Given the description of an element on the screen output the (x, y) to click on. 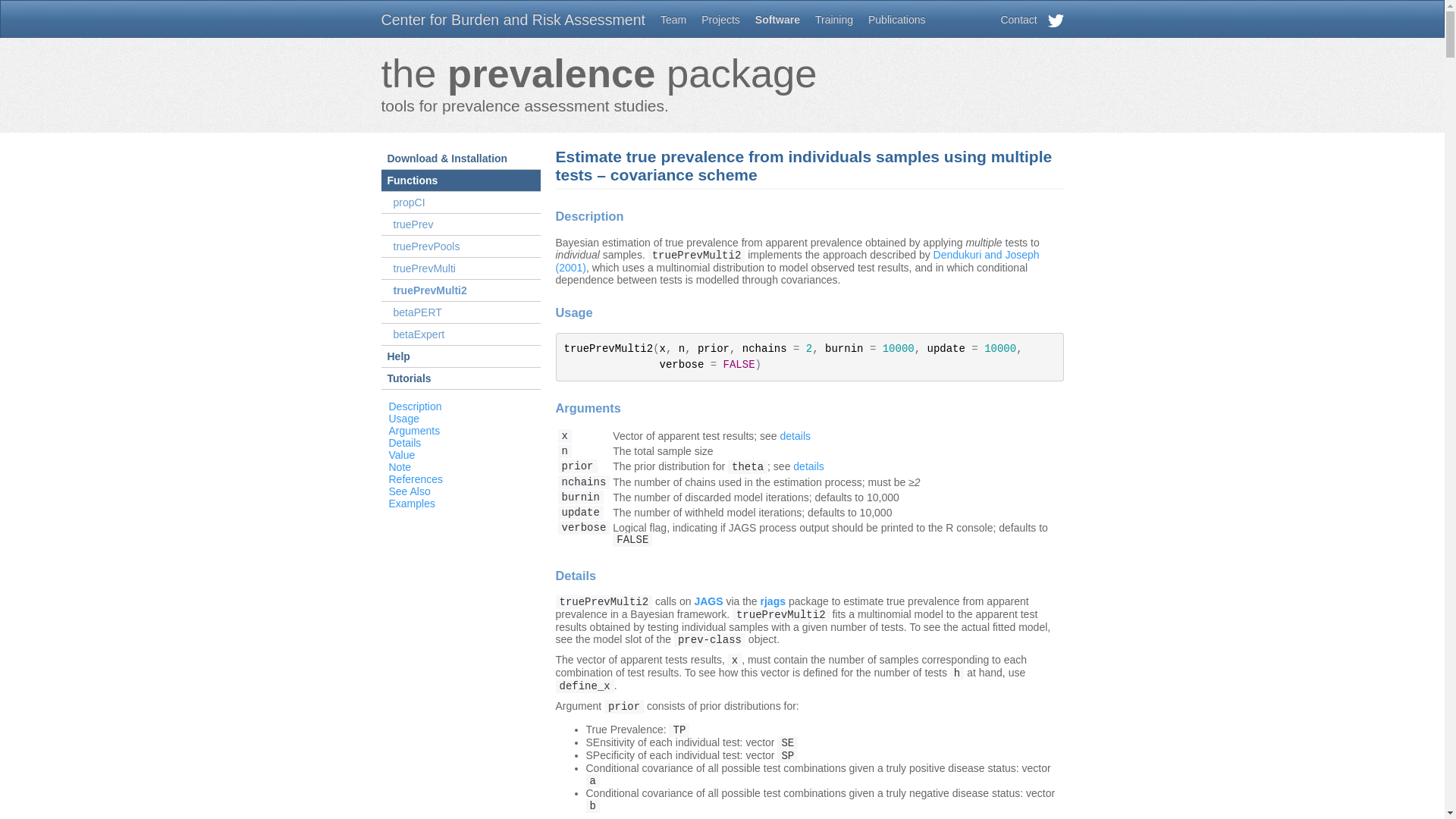
prev-class Element type: text (709, 639)
Follow @CBRA_be on Twitter Element type: hover (1055, 23)
truePrevMulti2 Element type: text (459, 290)
Projects Element type: text (720, 19)
truePrevPools Element type: text (459, 246)
betaPERT Element type: text (459, 312)
Team Element type: text (673, 19)
Software Element type: text (777, 19)
Details Element type: text (404, 442)
details Element type: text (808, 466)
define_x Element type: text (584, 685)
References Element type: text (415, 479)
Note Element type: text (399, 467)
betaExpert Element type: text (459, 334)
Center for Burden and Risk Assessment Element type: text (512, 19)
propCI Element type: text (459, 202)
Functions Element type: text (459, 180)
JAGS Element type: text (707, 601)
truePrev Element type: text (459, 224)
Download & Installation Element type: text (459, 158)
Tutorials Element type: text (459, 378)
Description Element type: text (414, 406)
Contact Element type: text (1018, 19)
Value Element type: text (401, 454)
Publications Element type: text (896, 19)
Usage Element type: text (403, 418)
truePrevMulti Element type: text (459, 268)
details Element type: text (795, 435)
Dendukuri and Joseph (2001) Element type: text (796, 260)
Examples Element type: text (411, 503)
rjags Element type: text (772, 601)
Arguments Element type: text (413, 430)
Training Element type: text (834, 19)
Help Element type: text (459, 356)
See Also Element type: text (408, 491)
